Given the description of an element on the screen output the (x, y) to click on. 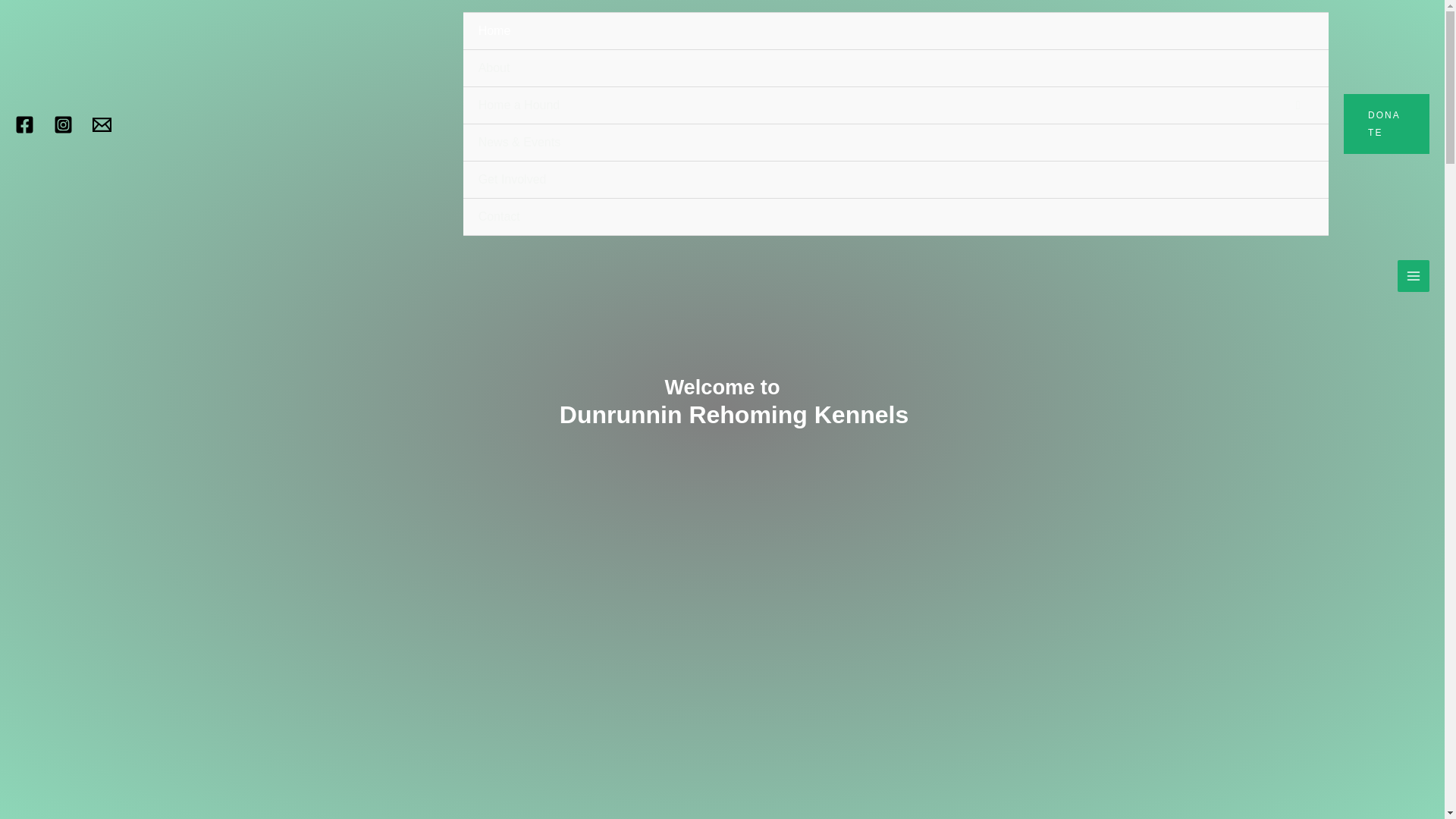
DONATE (1386, 123)
MAIN MENU (1413, 275)
About (895, 67)
Get Involved (895, 180)
Contact (895, 217)
Home (895, 31)
Home a Hound (895, 105)
